Given the description of an element on the screen output the (x, y) to click on. 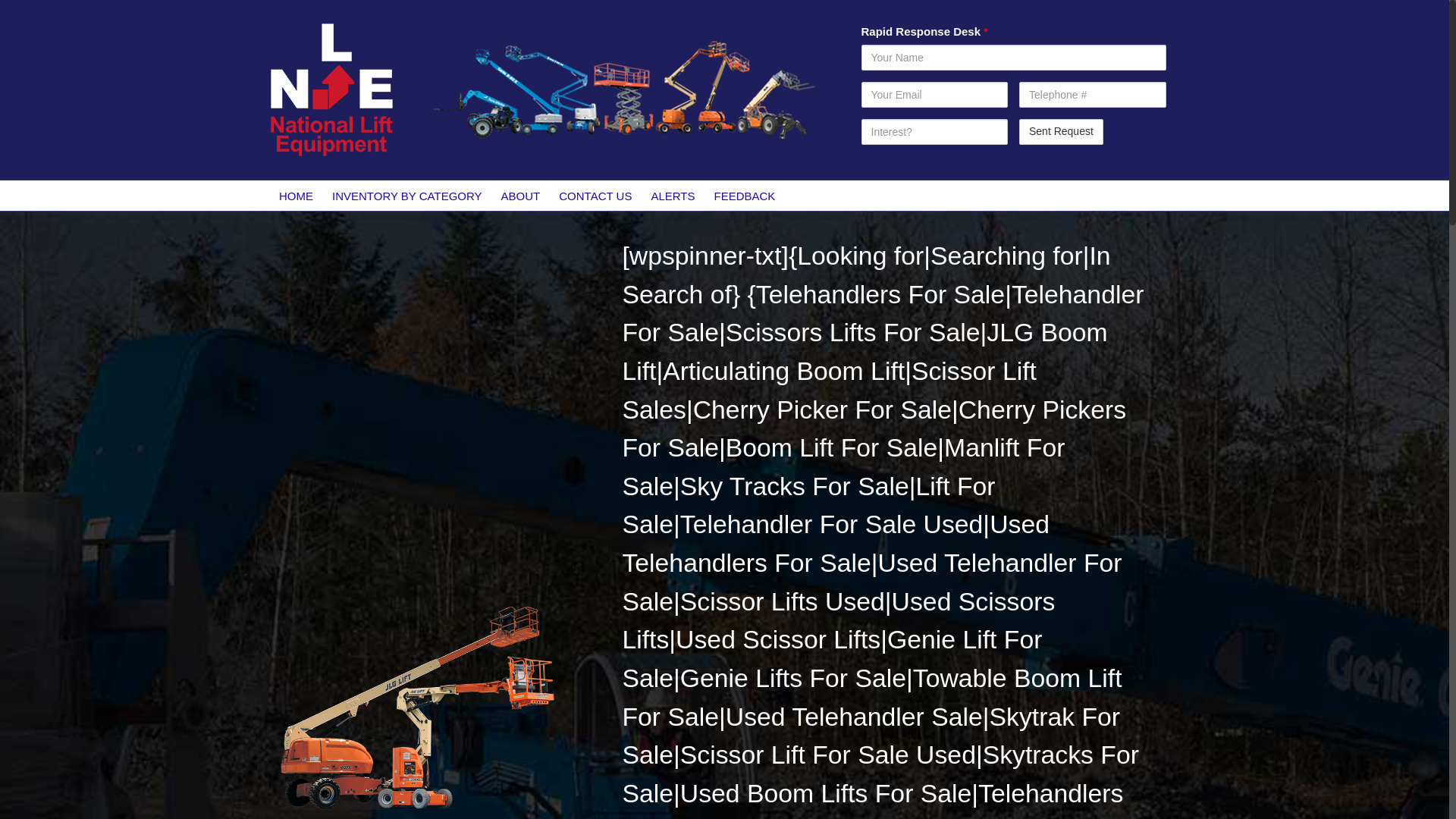
ABOUT (521, 195)
CONTACT US (596, 195)
INVENTORY BY CATEGORY (407, 195)
FEEDBACK (744, 195)
Sent Request (1061, 131)
Sent Request (1061, 131)
ALERTS (673, 195)
HOME (296, 195)
Used Construction Equipment For Sale in Pennsylvania (414, 707)
